Given the description of an element on the screen output the (x, y) to click on. 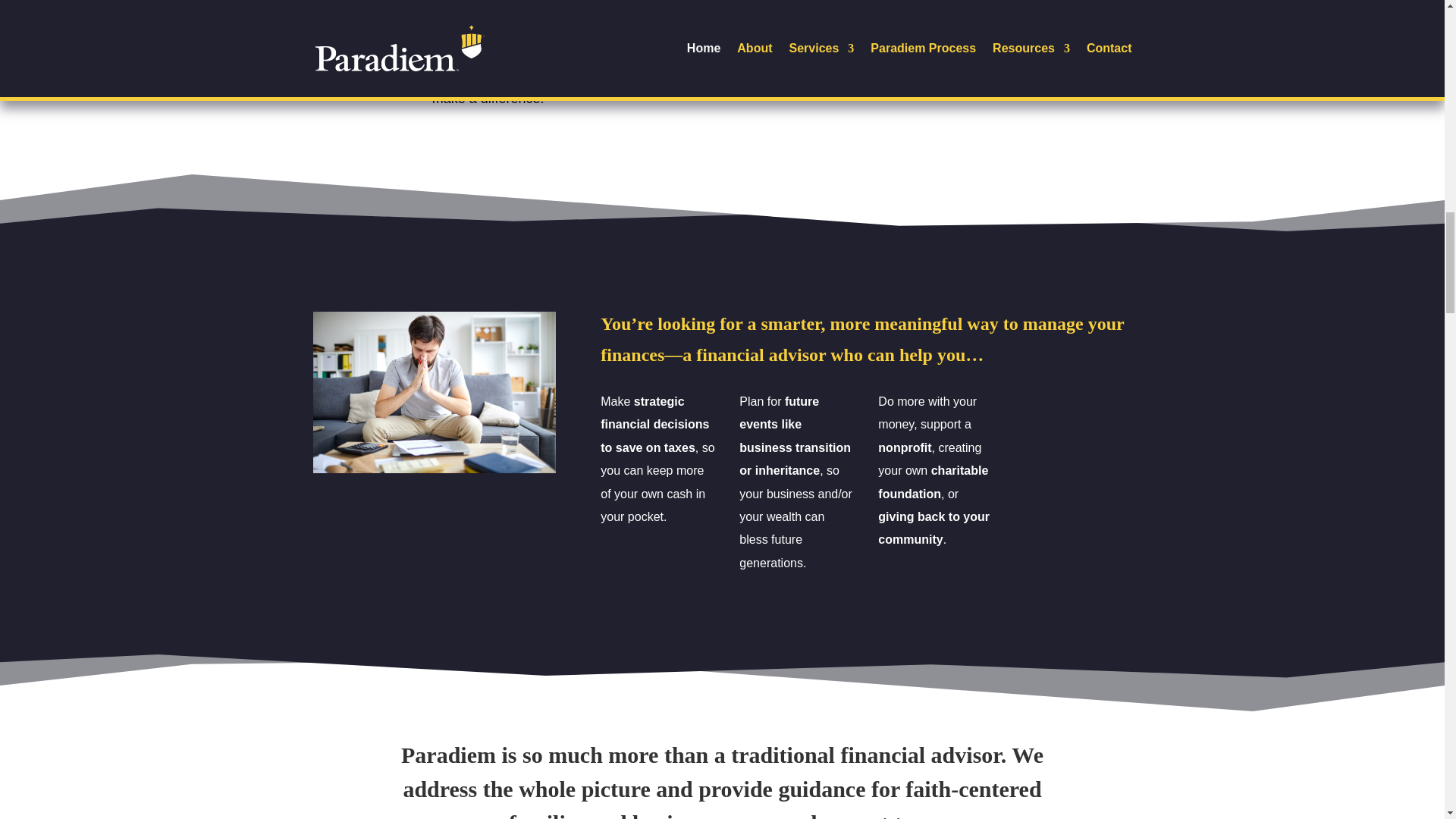
Financial trouble (433, 393)
unintentionally-damaging-the-things-that-matter-most (193, 5)
